Given the description of an element on the screen output the (x, y) to click on. 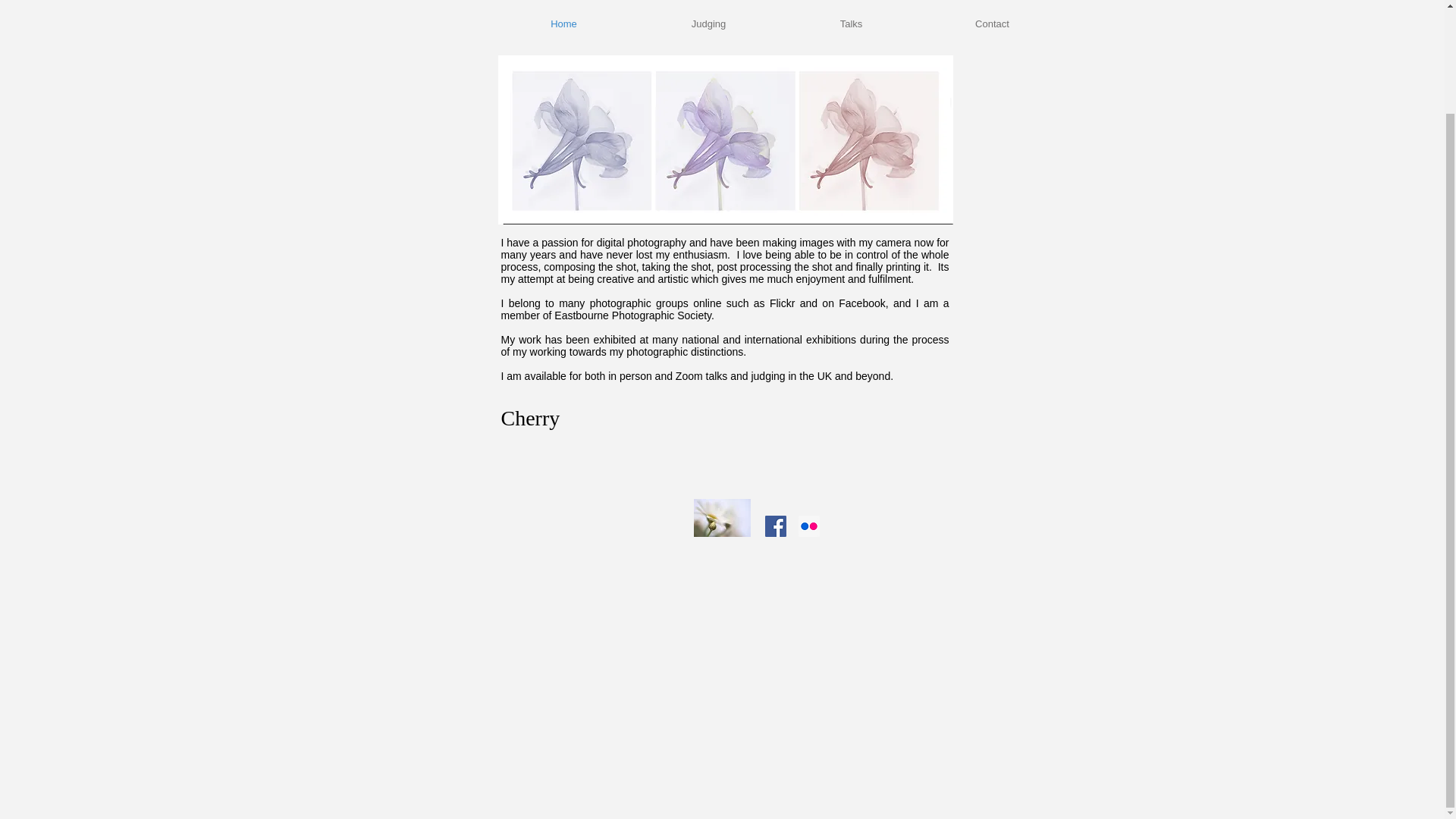
Judging (708, 23)
Contact (991, 23)
Talks (851, 23)
Cherry Larcombe  (626, 17)
Home (564, 23)
